Given the description of an element on the screen output the (x, y) to click on. 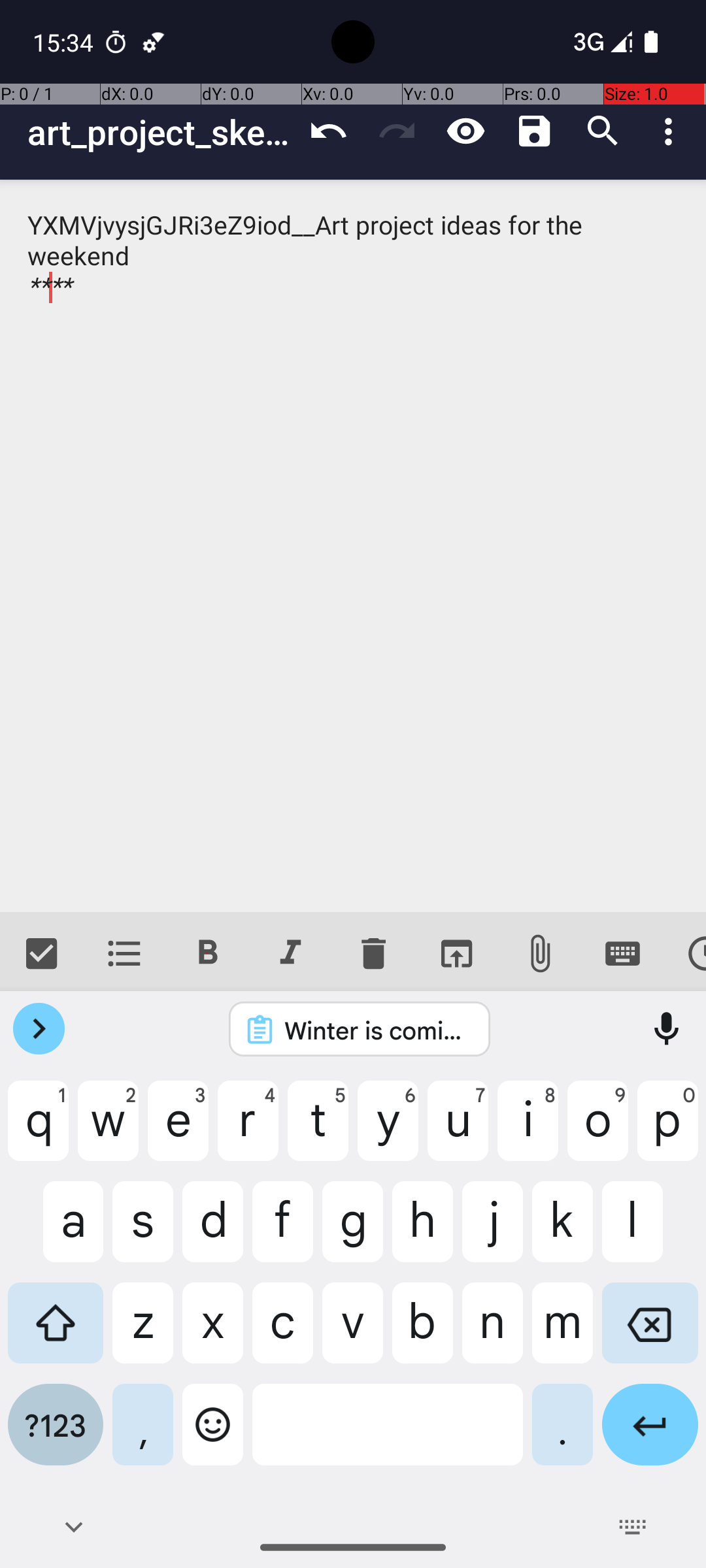
art_project_sketches_backup Element type: android.widget.TextView (160, 131)
YXMVjvysjGJRi3eZ9iod__Art project ideas for the weekend
**** Element type: android.widget.EditText (353, 545)
Winter is coming. Element type: android.widget.TextView (376, 1029)
